Given the description of an element on the screen output the (x, y) to click on. 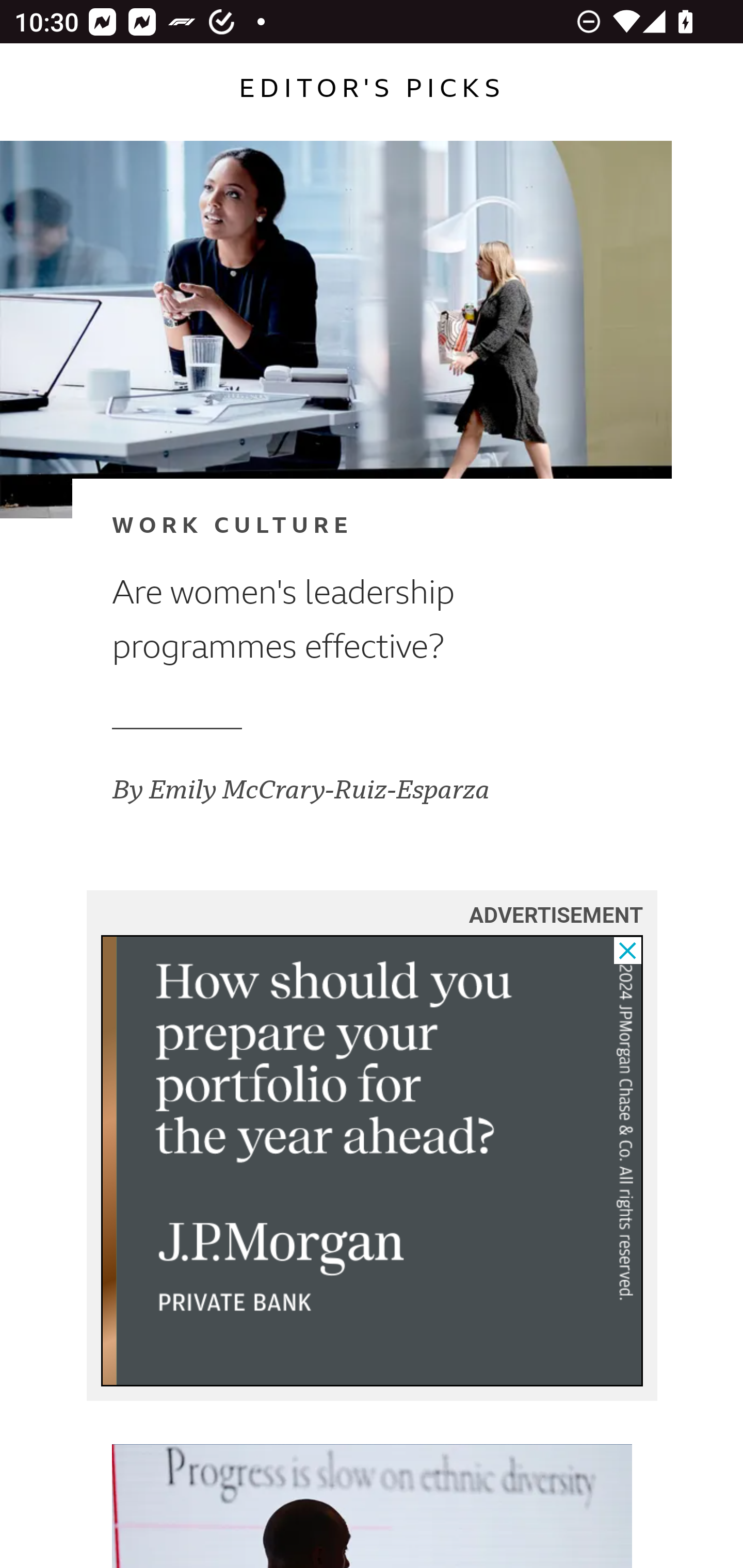
Woman Walks Past Leadership Ad Lunch Break (336, 328)
WORK CULTURE (339, 525)
Are women's leadership programmes effective? (339, 619)
